Given the description of an element on the screen output the (x, y) to click on. 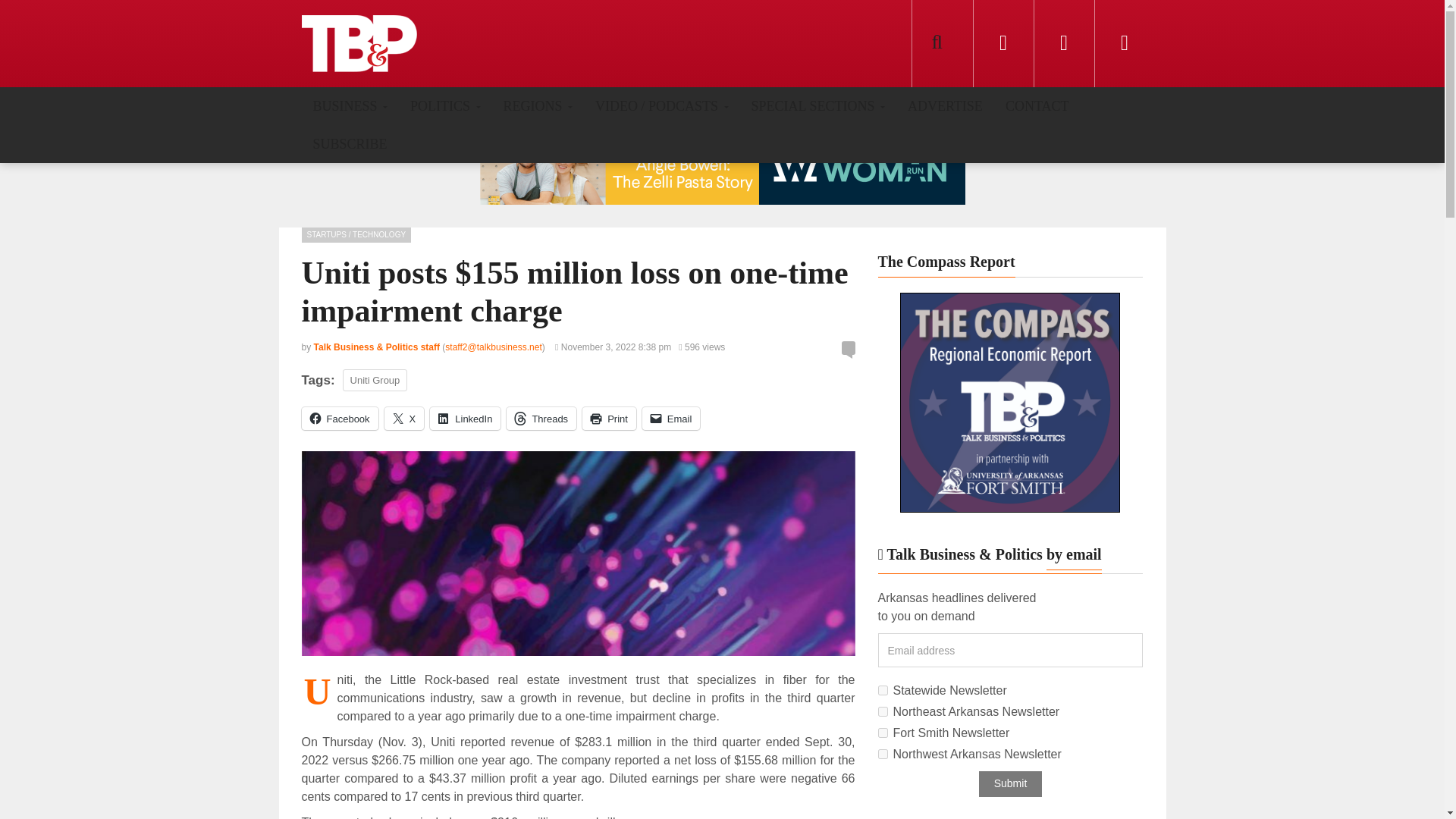
536baa6e11 (882, 754)
Click to email a link to a friend (671, 418)
BUSINESS (349, 105)
Click to print (609, 418)
Click to share on Facebook (339, 418)
Click to share on LinkedIn (464, 418)
bfd07a2f6a (882, 732)
Click to share on X (404, 418)
Click to share on Threads (541, 418)
0dbc242577 (882, 711)
a8cb0d3206 (882, 690)
